Given the description of an element on the screen output the (x, y) to click on. 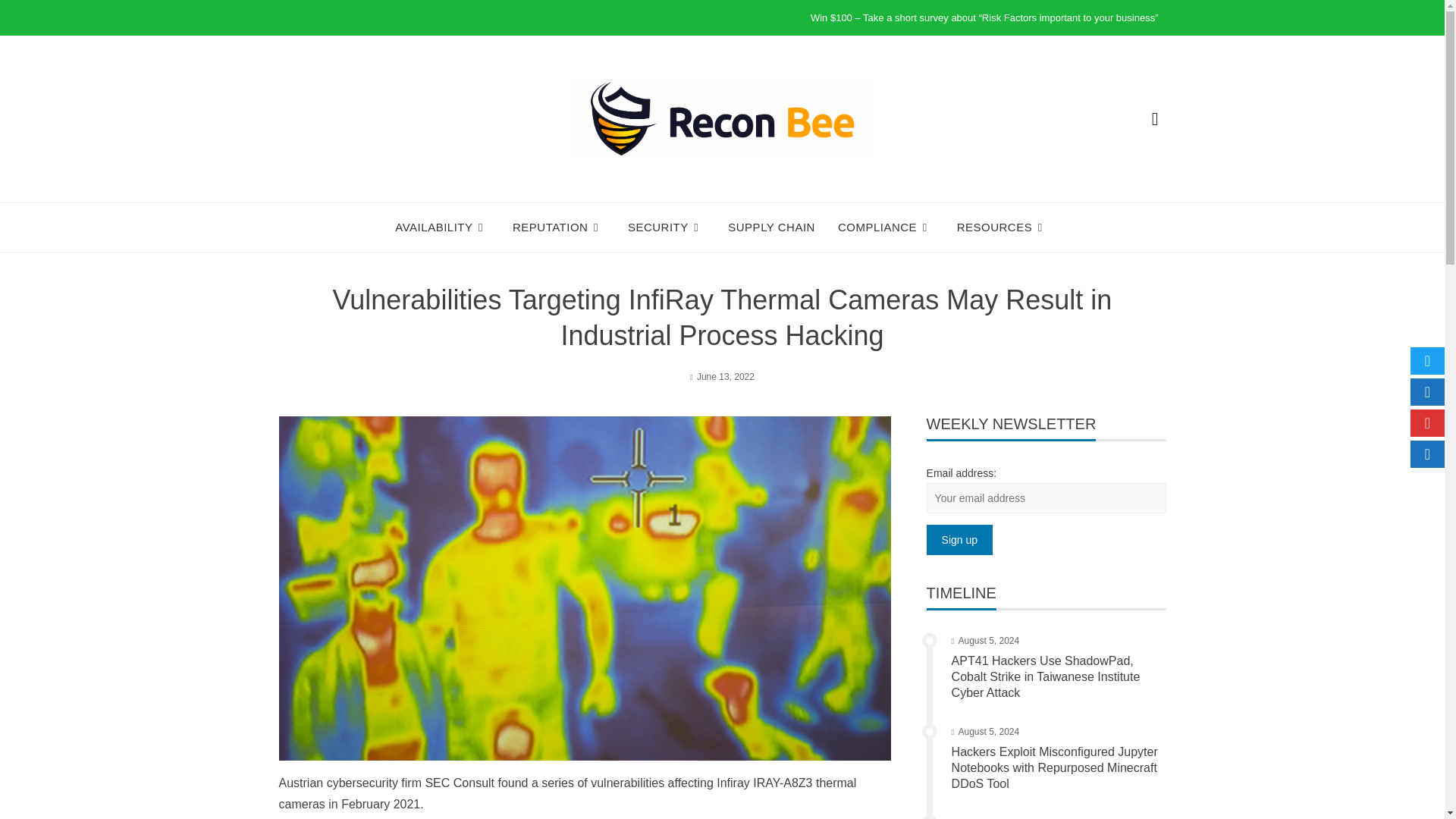
SUPPLY CHAIN (771, 227)
Sign up (959, 539)
COMPLIANCE (886, 227)
SECURITY (665, 227)
REPUTATION (558, 227)
AVAILABILITY (441, 227)
RESOURCES (1002, 227)
